Given the description of an element on the screen output the (x, y) to click on. 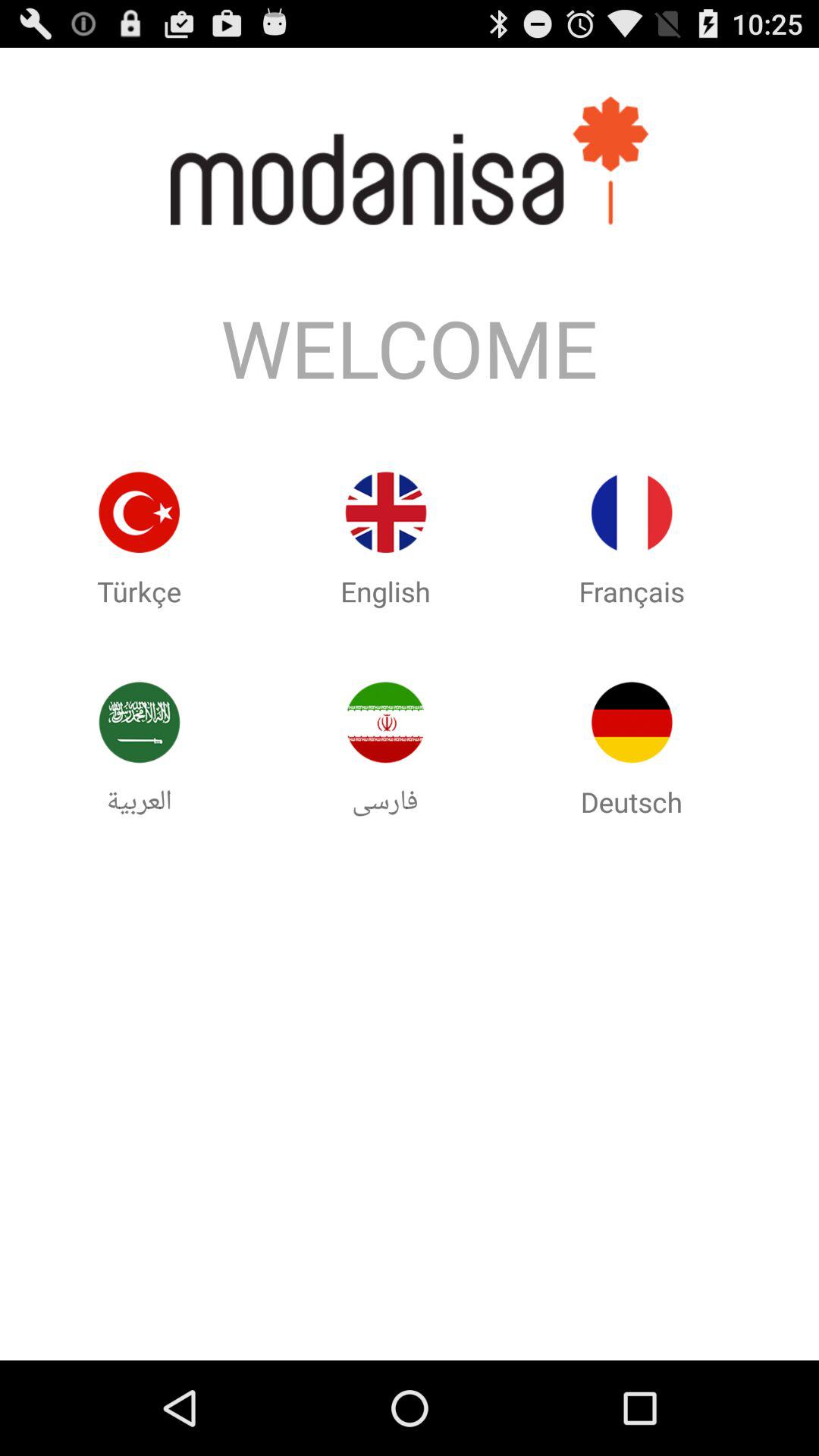
switch to english language (385, 512)
